Given the description of an element on the screen output the (x, y) to click on. 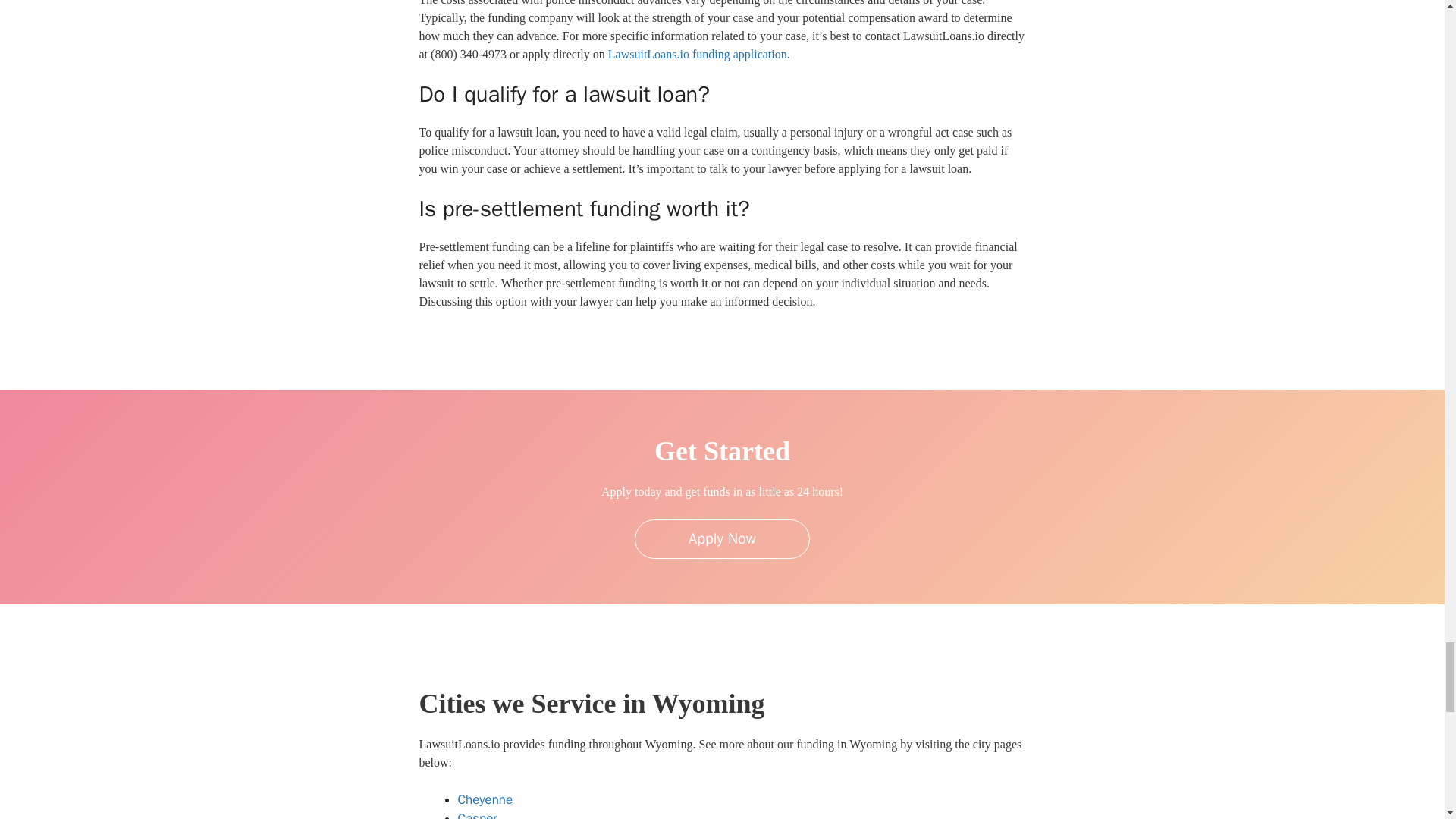
Apply Now (721, 538)
LawsuitLoans.io funding application (697, 53)
Cheyenne (485, 799)
Casper (477, 814)
